Given the description of an element on the screen output the (x, y) to click on. 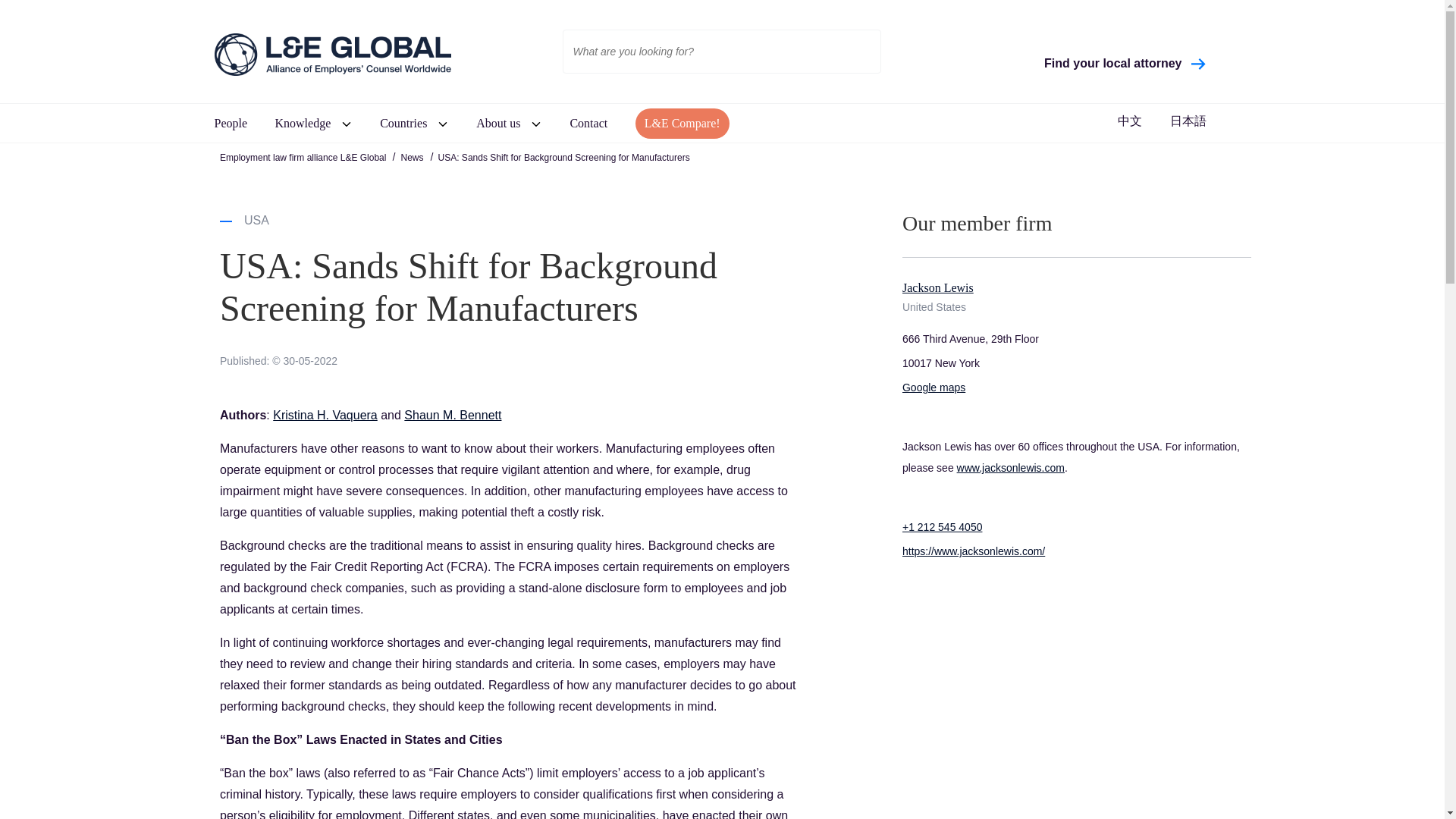
Knowledge (302, 123)
People (230, 123)
Countries (403, 123)
Knowledge (302, 123)
Countries (403, 123)
Find your local attorney (1125, 63)
People (230, 123)
